Given the description of an element on the screen output the (x, y) to click on. 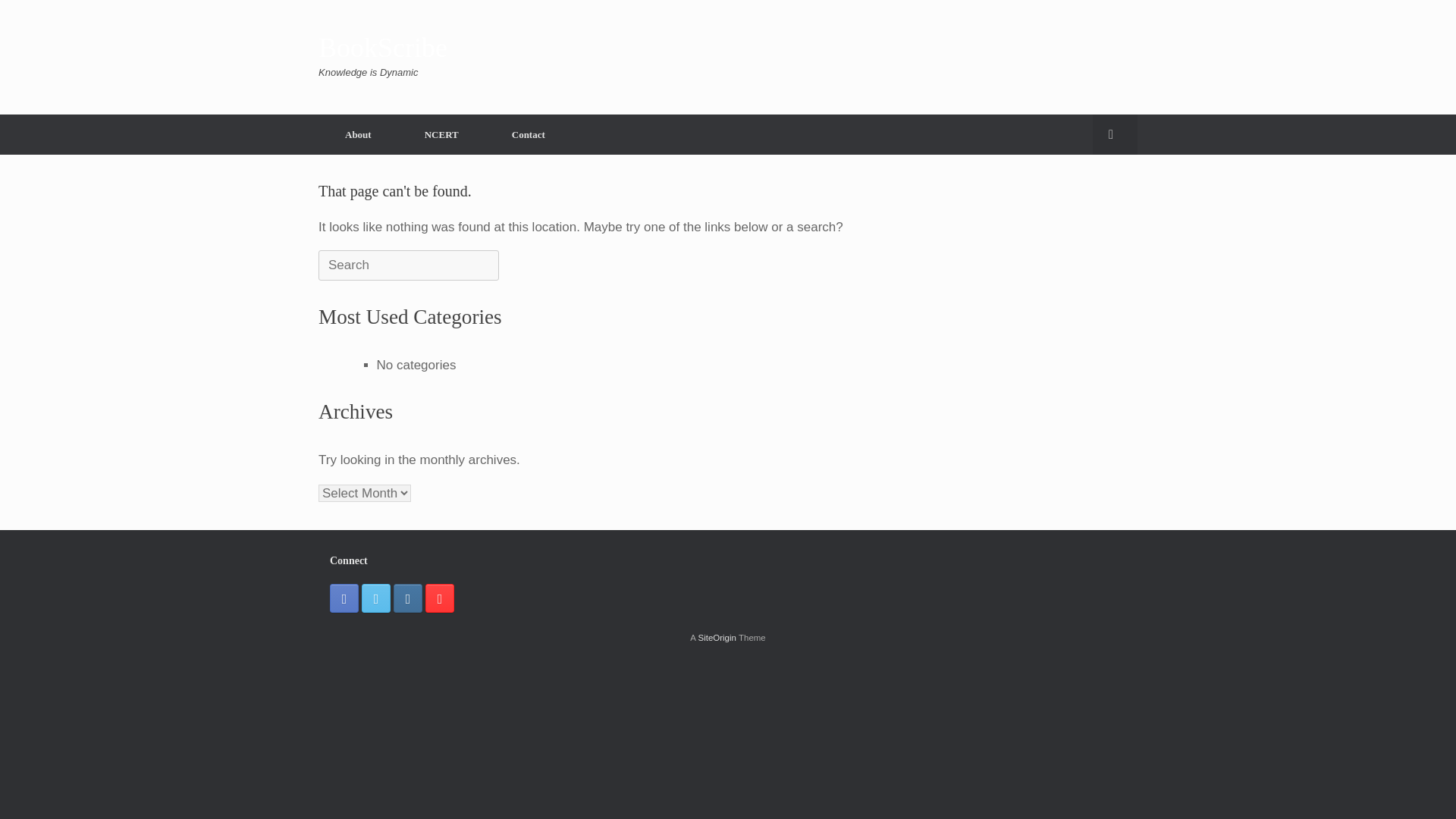
BookScribe (382, 47)
Contact (528, 133)
BookScribe Instagram (407, 597)
About (357, 133)
NCERT (440, 133)
BookScribe YouTube (439, 597)
SiteOrigin (716, 637)
BookScribe (382, 47)
BookScribe Facebook (344, 597)
